Given the description of an element on the screen output the (x, y) to click on. 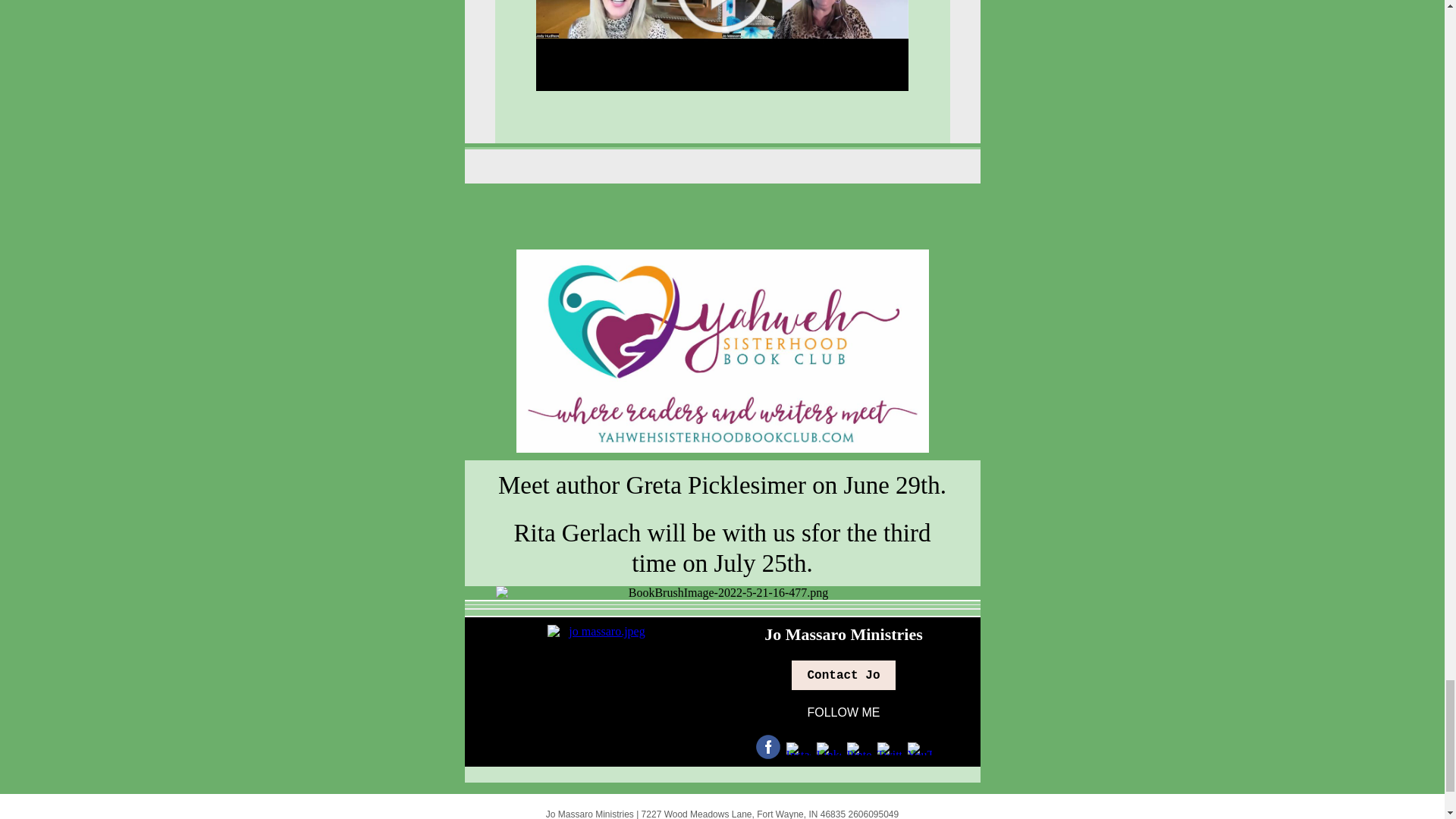
Try email marketing for free today! (721, 796)
Jo Massaro Ministries (843, 521)
Contact Jo (842, 562)
Update Profile (657, 742)
Constant Contact Data Notice (754, 742)
